Given the description of an element on the screen output the (x, y) to click on. 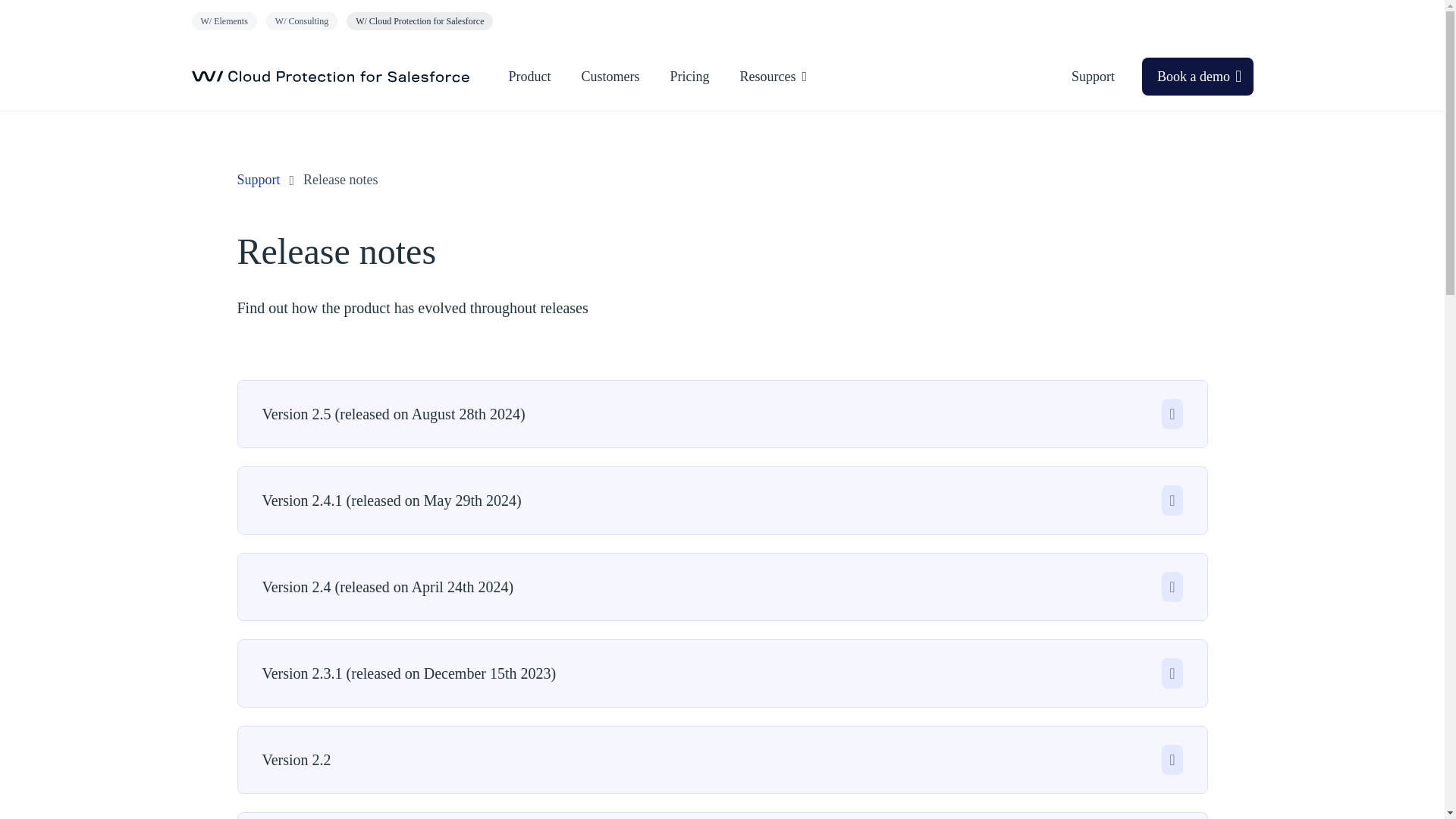
Customers (610, 76)
Pricing (690, 76)
Book a demo (1197, 76)
Support (257, 179)
Support (1093, 76)
Product (529, 76)
